Given the description of an element on the screen output the (x, y) to click on. 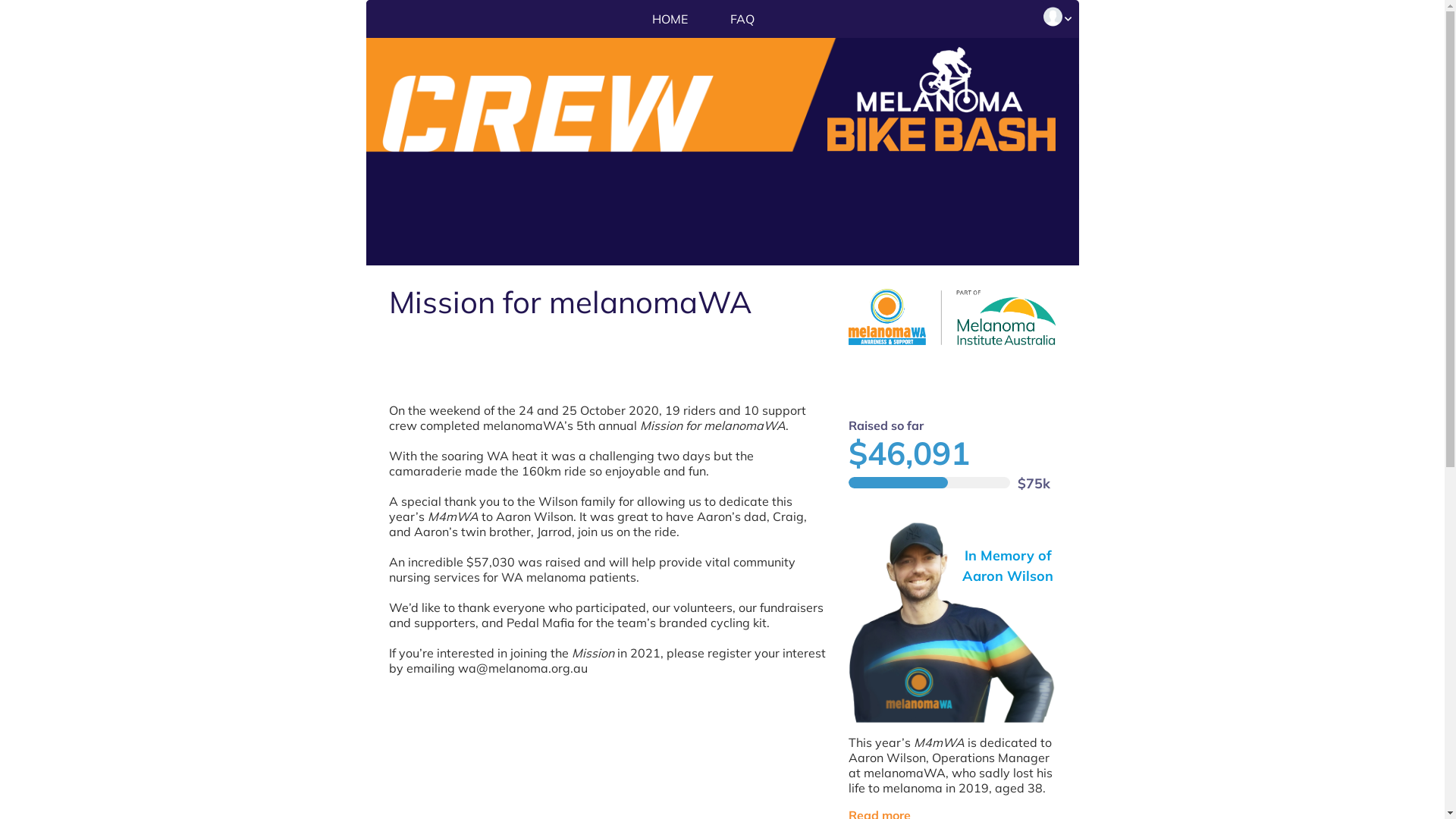
HOME Element type: text (668, 19)
FAQ Element type: text (740, 19)
